Given the description of an element on the screen output the (x, y) to click on. 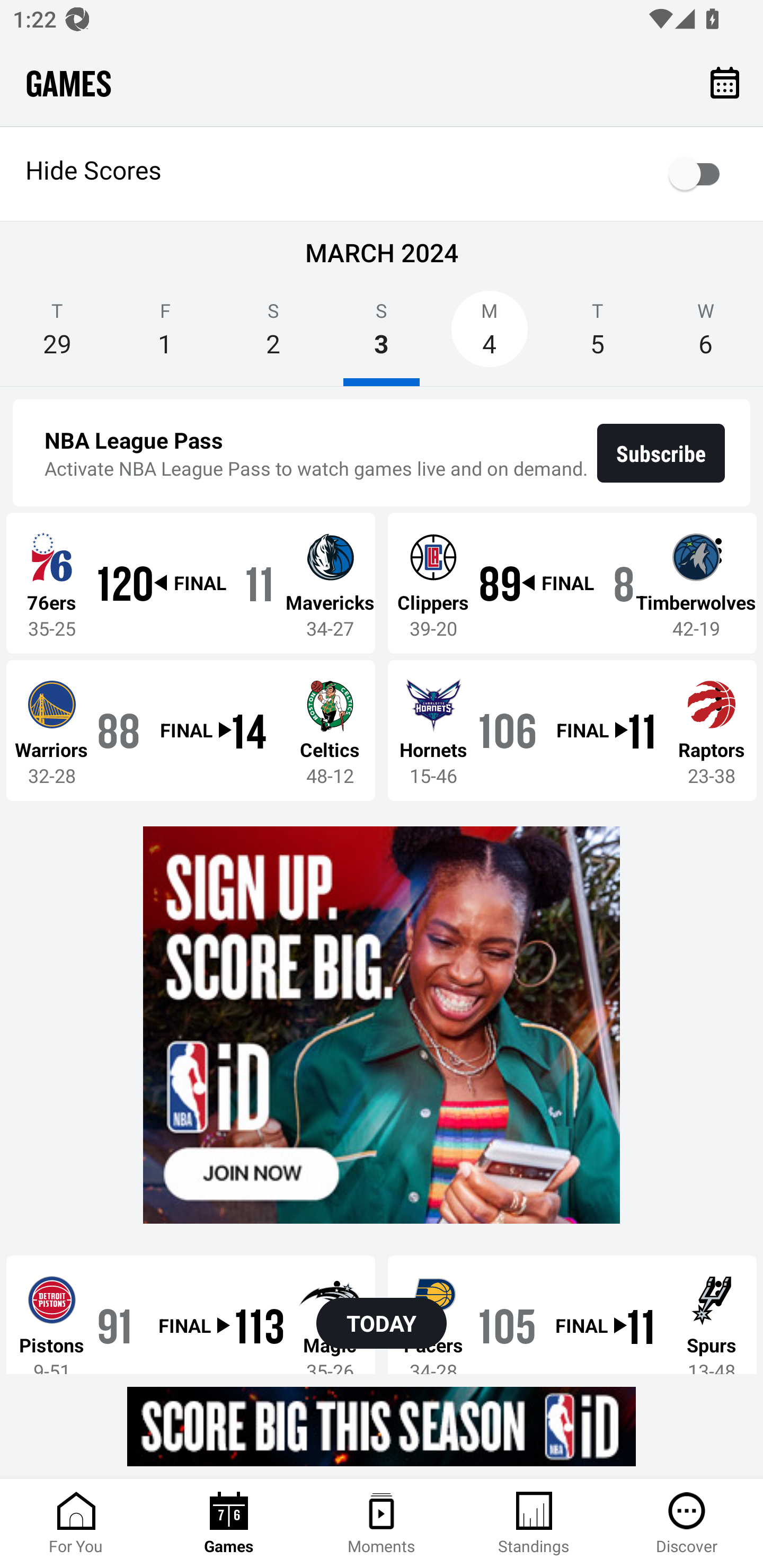
Calendar (724, 81)
Hide Scores (381, 174)
T 29 (57, 334)
F 1 (165, 334)
S 2 (273, 334)
S 3 (381, 334)
M 4 (489, 334)
T 5 (597, 334)
W 6 (705, 334)
Subscribe (660, 452)
TODAY (381, 1323)
For You (76, 1523)
Moments (381, 1523)
Standings (533, 1523)
Discover (686, 1523)
